Given the description of an element on the screen output the (x, y) to click on. 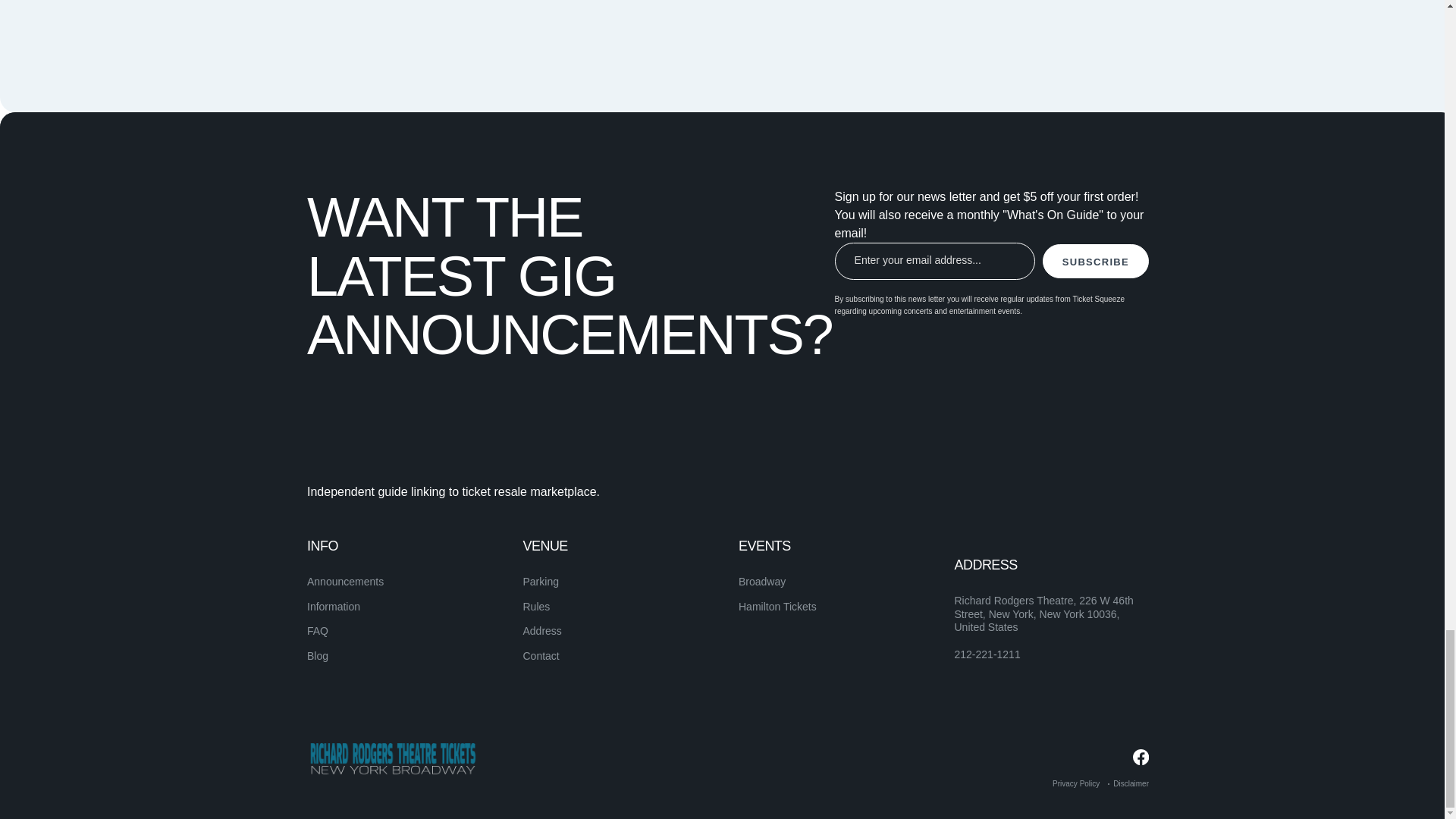
venue map (905, 10)
Hamilton Tickets (777, 606)
Parking (540, 581)
Privacy Policy (1075, 783)
Blog (318, 655)
FAQ (318, 630)
SUBSCRIBE (1095, 261)
Broadway (762, 581)
Announcements (345, 581)
Contact (540, 655)
